Given the description of an element on the screen output the (x, y) to click on. 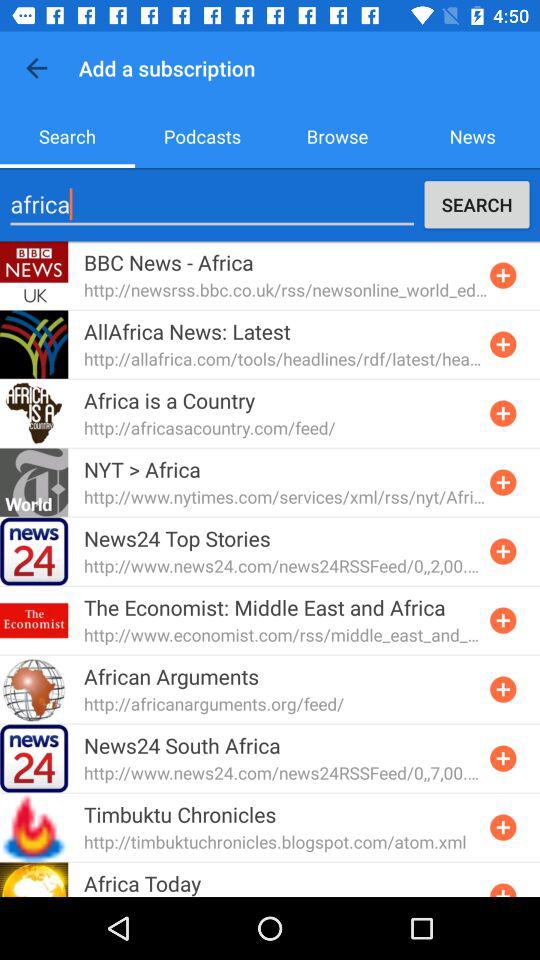
click icon next to news (337, 136)
